Given the description of an element on the screen output the (x, y) to click on. 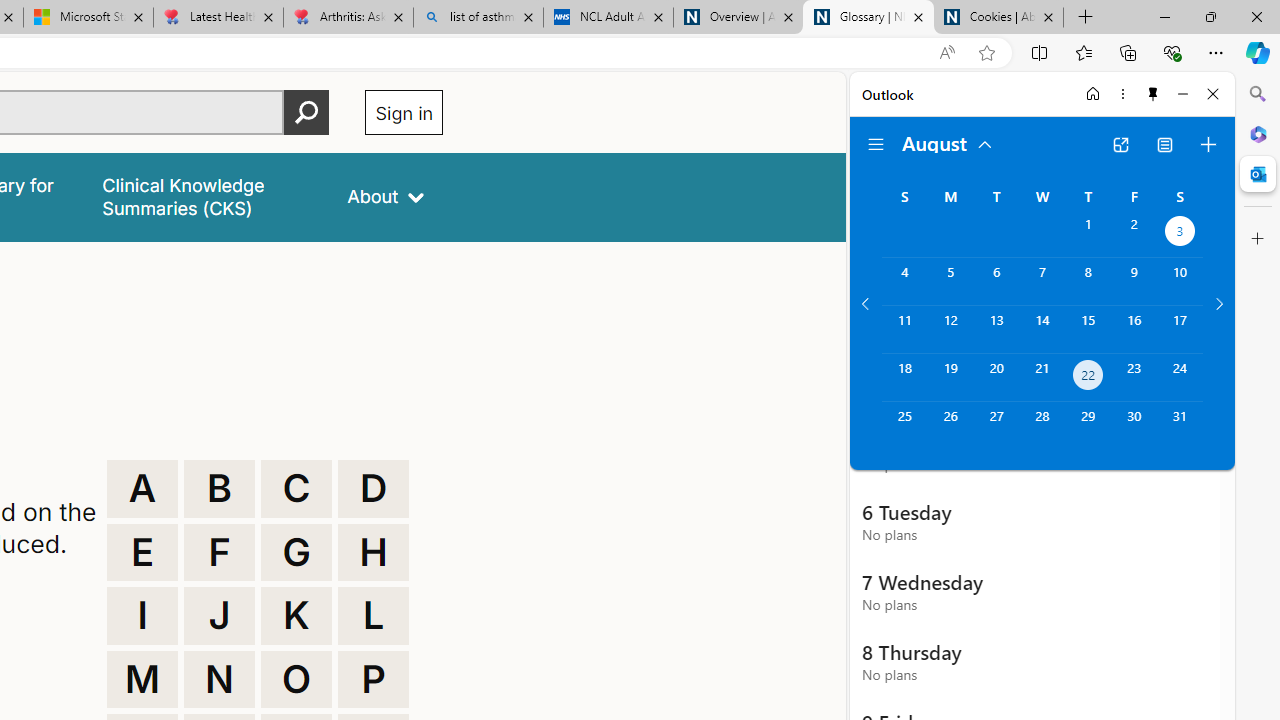
Wednesday, August 28, 2024.  (1042, 425)
Cookies | About | NICE (998, 17)
H (373, 551)
Friday, August 2, 2024.  (1134, 233)
J (219, 615)
N (219, 679)
Open in new tab (1120, 144)
Friday, August 16, 2024.  (1134, 329)
G (296, 551)
J (219, 615)
